Given the description of an element on the screen output the (x, y) to click on. 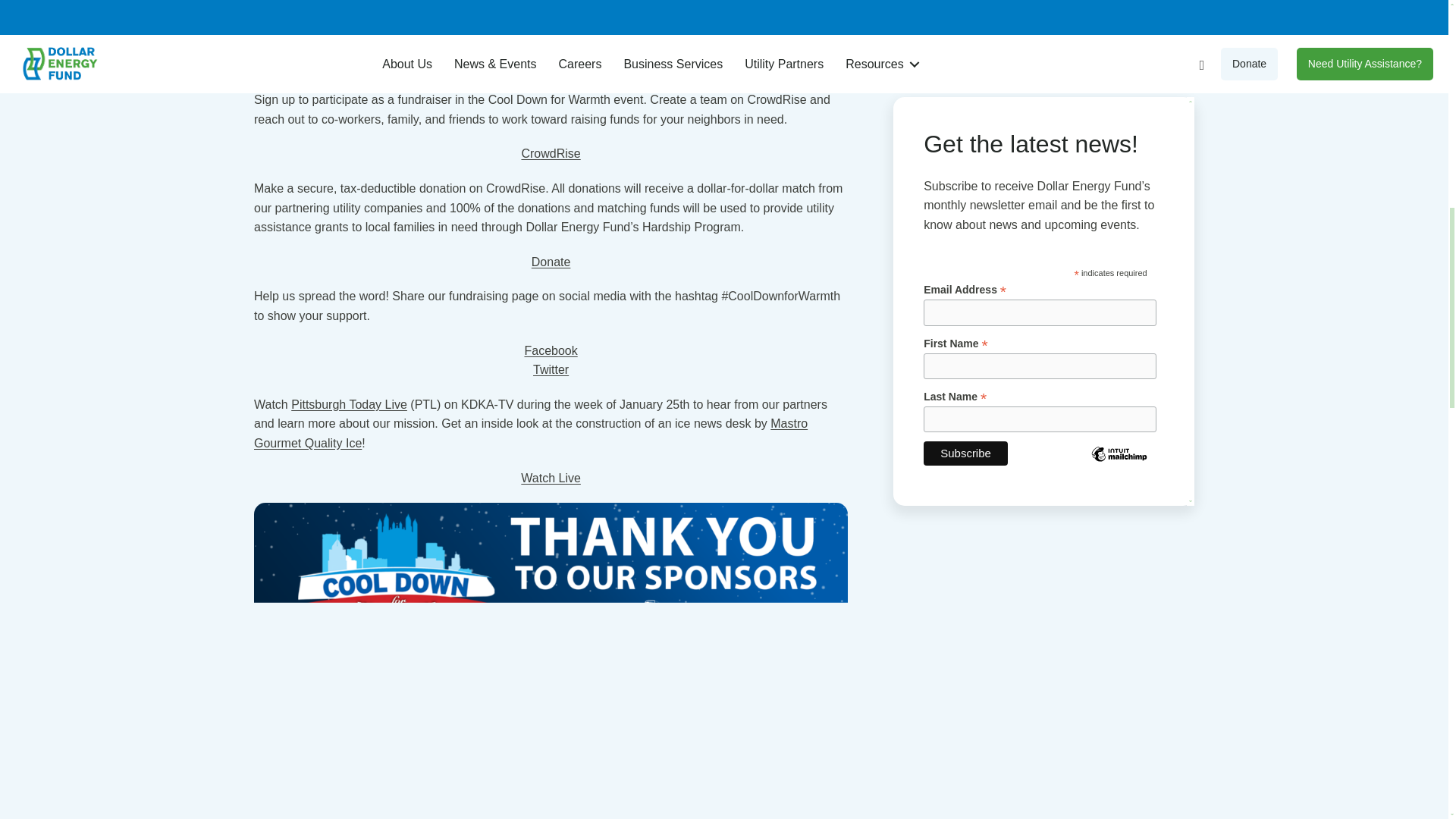
Facebook (550, 350)
Twitter (550, 369)
Subscribe (965, 96)
Mastro Gourmet Quality Ice (530, 432)
Donate (550, 261)
Subscribe (965, 96)
CrowdRise (550, 153)
Pittsburgh Today Live (349, 404)
Mailchimp - email marketing made easy and fun (1118, 107)
Watch Live (550, 477)
